Given the description of an element on the screen output the (x, y) to click on. 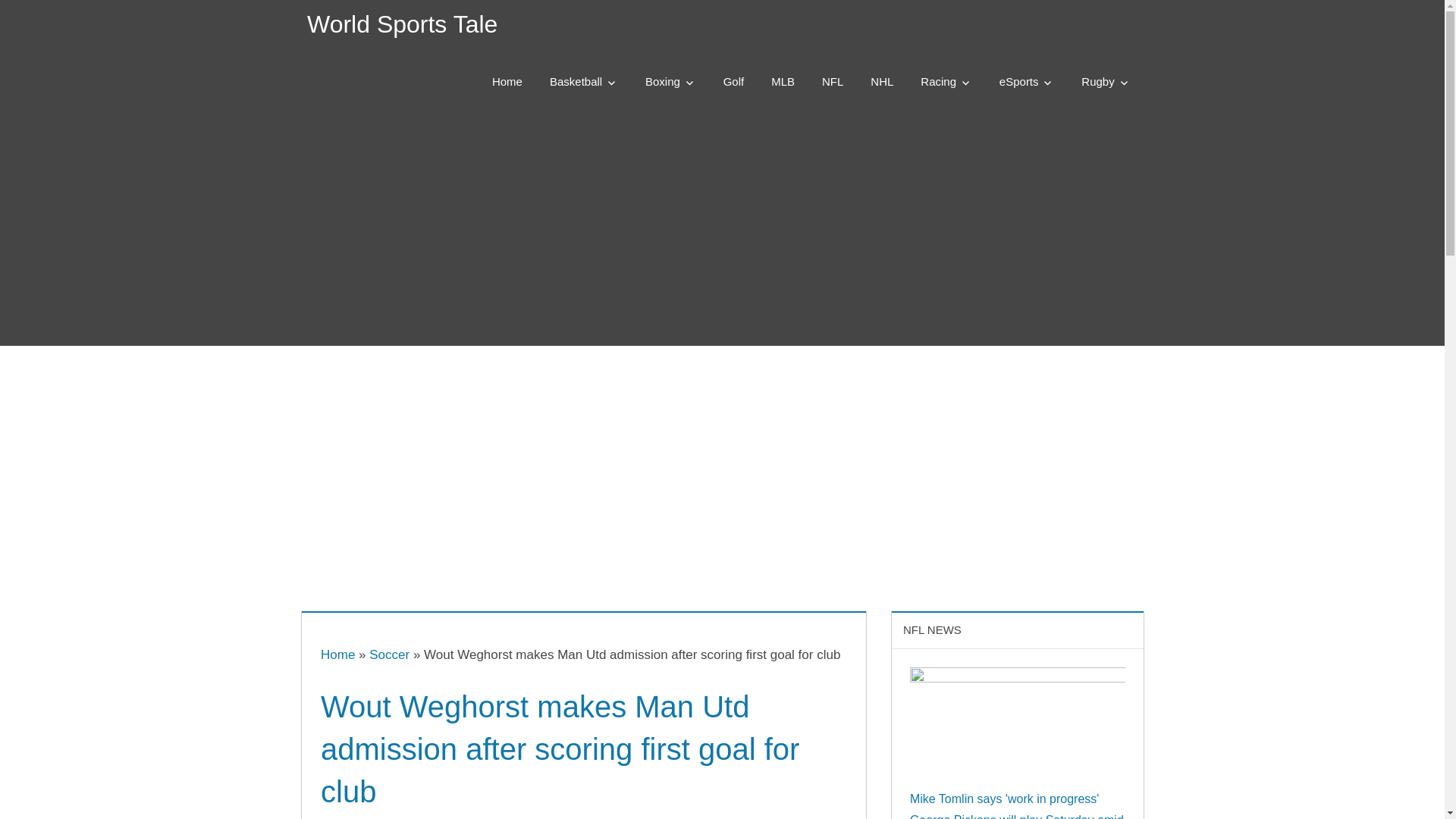
Golf (734, 81)
Home (337, 654)
Basketball (583, 81)
Home (507, 81)
Boxing (670, 81)
NFL (832, 81)
eSports (1026, 81)
NHL (882, 81)
Soccer (389, 654)
Rugby (1104, 81)
World Sports Tale (402, 23)
MLB (782, 81)
